Given the description of an element on the screen output the (x, y) to click on. 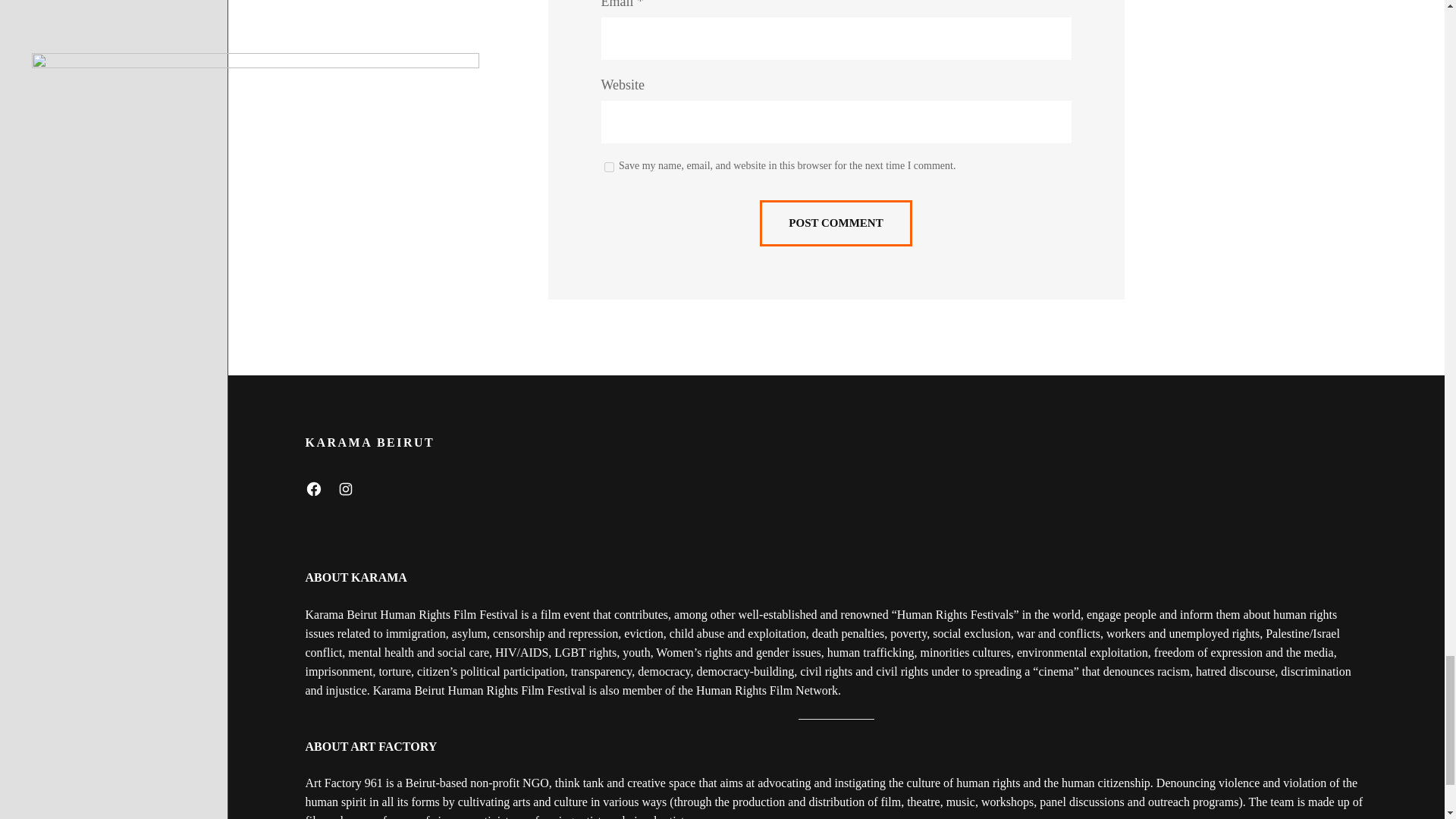
Post Comment (836, 222)
Post Comment (836, 222)
Instagram (345, 489)
Facebook (313, 489)
